Given the description of an element on the screen output the (x, y) to click on. 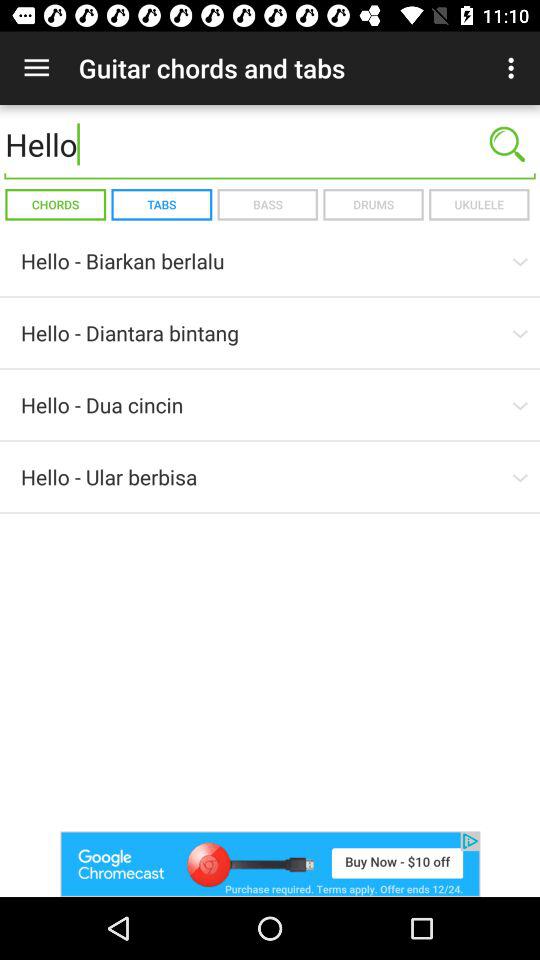
advertisement (270, 864)
